Given the description of an element on the screen output the (x, y) to click on. 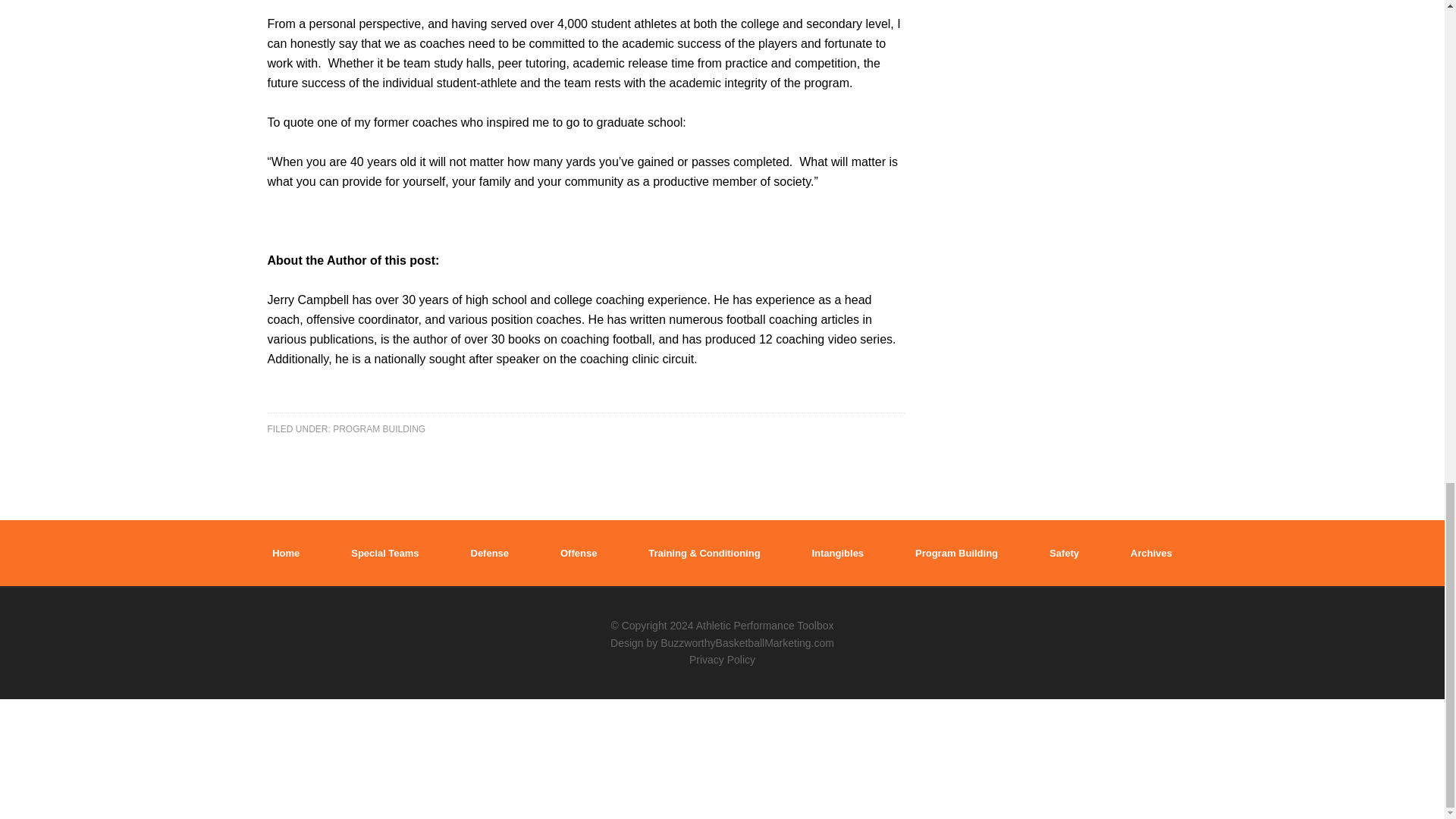
PROGRAM BUILDING (379, 428)
Offense (578, 552)
BuzzworthyBasketballMarketing.com (747, 643)
Privacy Policy (721, 659)
Program Building (956, 552)
Defense (489, 552)
Archives (1151, 552)
Special Teams (384, 552)
Intangibles (836, 552)
Safety (1063, 552)
Athletic Performance Toolbox (764, 625)
Home (285, 552)
